Given the description of an element on the screen output the (x, y) to click on. 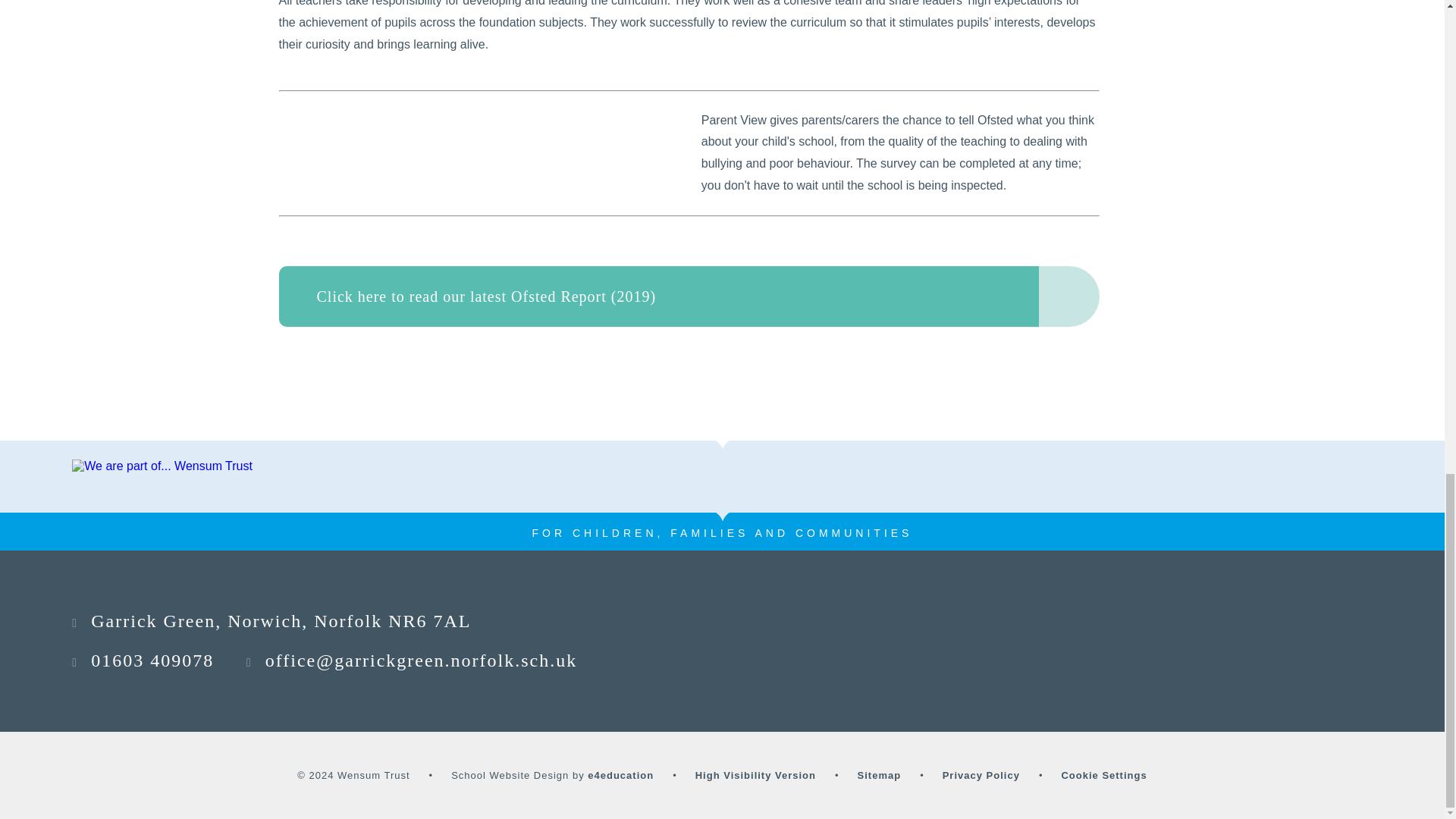
Download (1069, 296)
Cookie Settings (1104, 775)
